Given the description of an element on the screen output the (x, y) to click on. 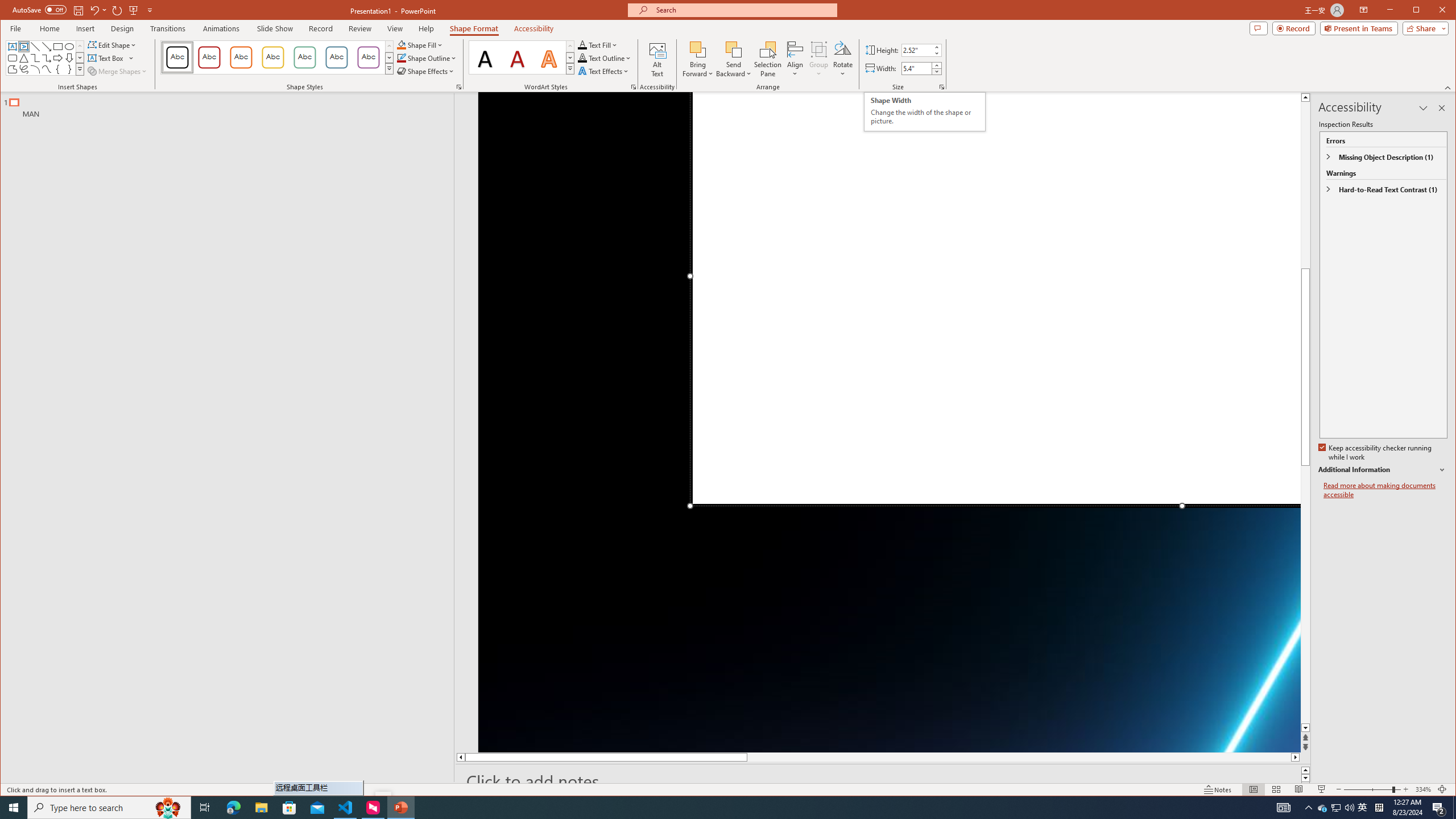
Colored Outline - Orange, Accent 2 (241, 57)
